Given the description of an element on the screen output the (x, y) to click on. 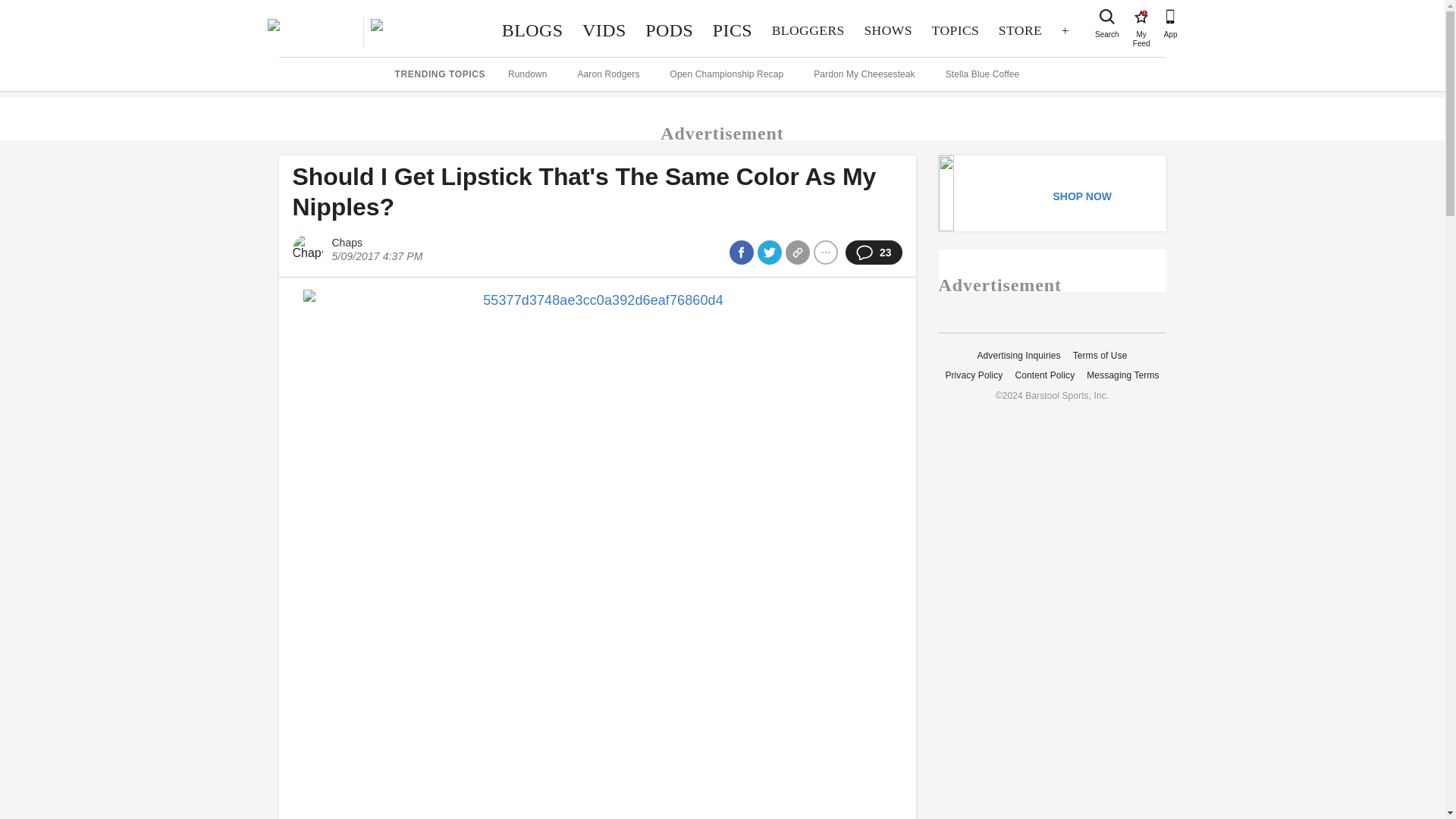
PICS (732, 30)
BLOGS (532, 30)
STORE (1141, 16)
SHOWS (1019, 30)
TOPICS (887, 30)
VIDS (954, 30)
BLOGGERS (603, 30)
Search (807, 30)
PODS (1107, 16)
